Given the description of an element on the screen output the (x, y) to click on. 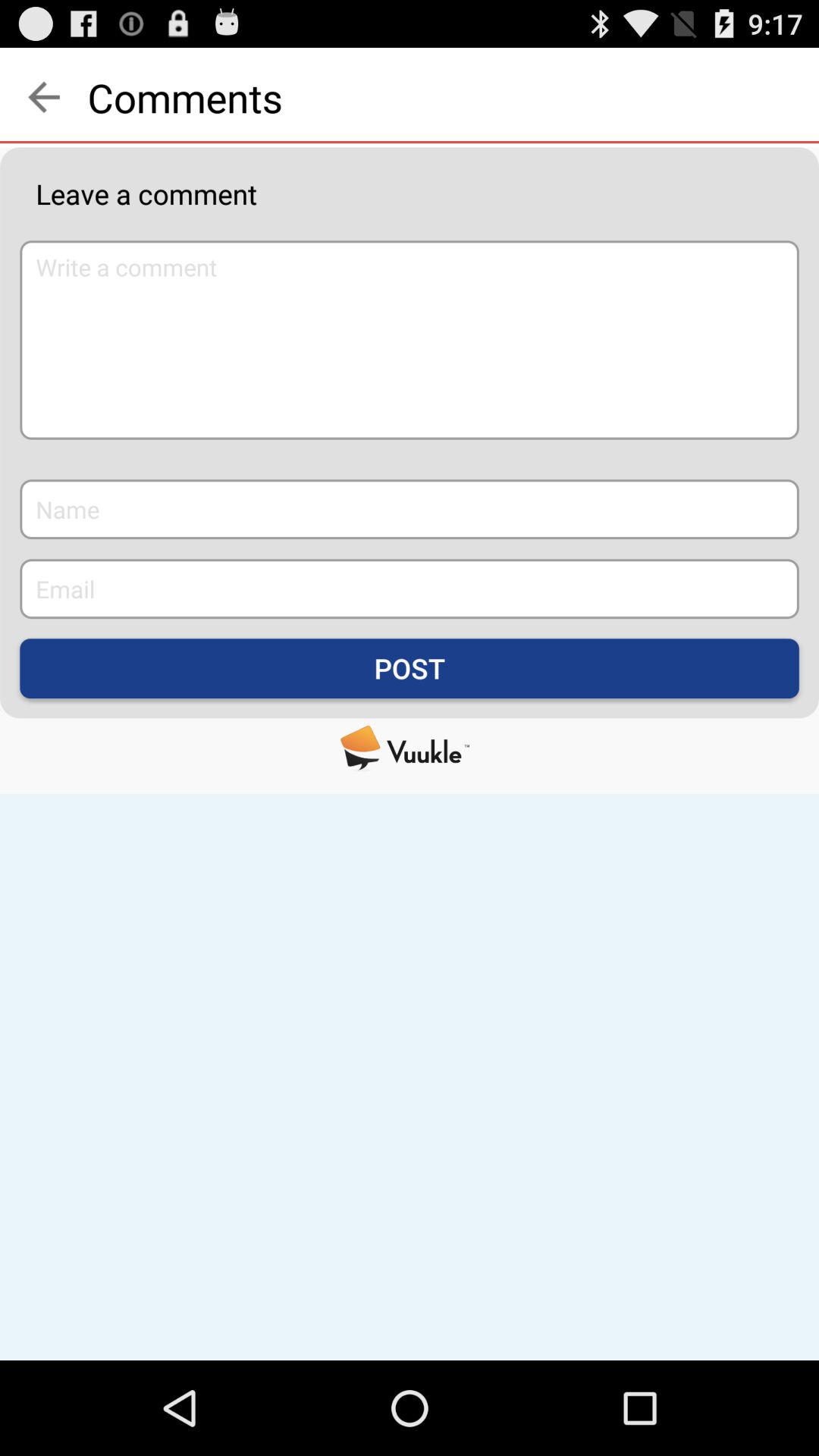
enter your name in this box (409, 509)
